Given the description of an element on the screen output the (x, y) to click on. 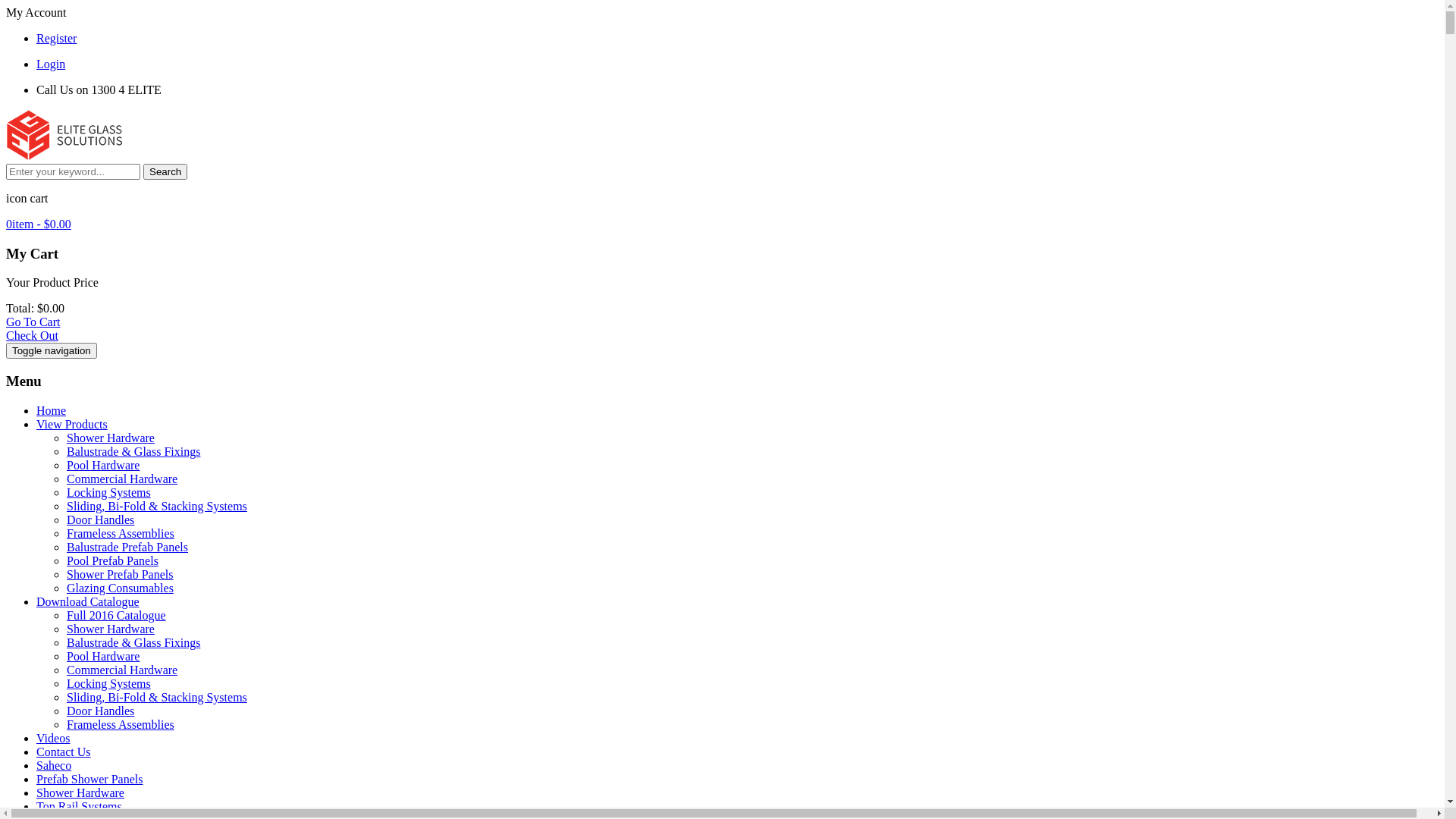
Shower Prefab Panels Element type: text (119, 573)
Locking Systems Element type: text (108, 683)
Shower Hardware Element type: text (110, 628)
Commercial Hardware Element type: text (121, 478)
Door Handles Element type: text (100, 519)
Balustrade & Glass Fixings Element type: text (133, 642)
Search Element type: text (165, 171)
Check Out Element type: text (32, 335)
Frameless Assemblies Element type: text (120, 724)
Videos Element type: text (52, 737)
Sliding, Bi-Fold & Stacking Systems Element type: text (156, 505)
Commercial Hardware Element type: text (121, 669)
Pool Prefab Panels Element type: text (112, 560)
Saheco Element type: text (53, 765)
Toggle navigation Element type: text (51, 350)
Shower Hardware Element type: text (110, 437)
Glazing Consumables Element type: text (119, 587)
Door Handles Element type: text (100, 710)
Sliding, Bi-Fold & Stacking Systems Element type: text (156, 696)
Frameless Assemblies Element type: text (120, 533)
Balustrade Prefab Panels Element type: text (127, 546)
Full 2016 Catalogue Element type: text (116, 614)
Pool Hardware Element type: text (102, 464)
Register Element type: text (56, 37)
Home Element type: text (50, 410)
Shower Hardware Element type: text (80, 792)
Locking Systems Element type: text (108, 492)
Contact Us Element type: text (63, 751)
Download Catalogue Element type: text (87, 601)
0item - $0.00 Element type: text (38, 223)
Go To Cart Element type: text (32, 321)
Top Rail Systems Element type: text (79, 806)
Login Element type: text (50, 63)
Balustrade & Glass Fixings Element type: text (133, 451)
View Products Element type: text (71, 423)
Pool Hardware Element type: text (102, 655)
Prefab Shower Panels Element type: text (89, 778)
